Given the description of an element on the screen output the (x, y) to click on. 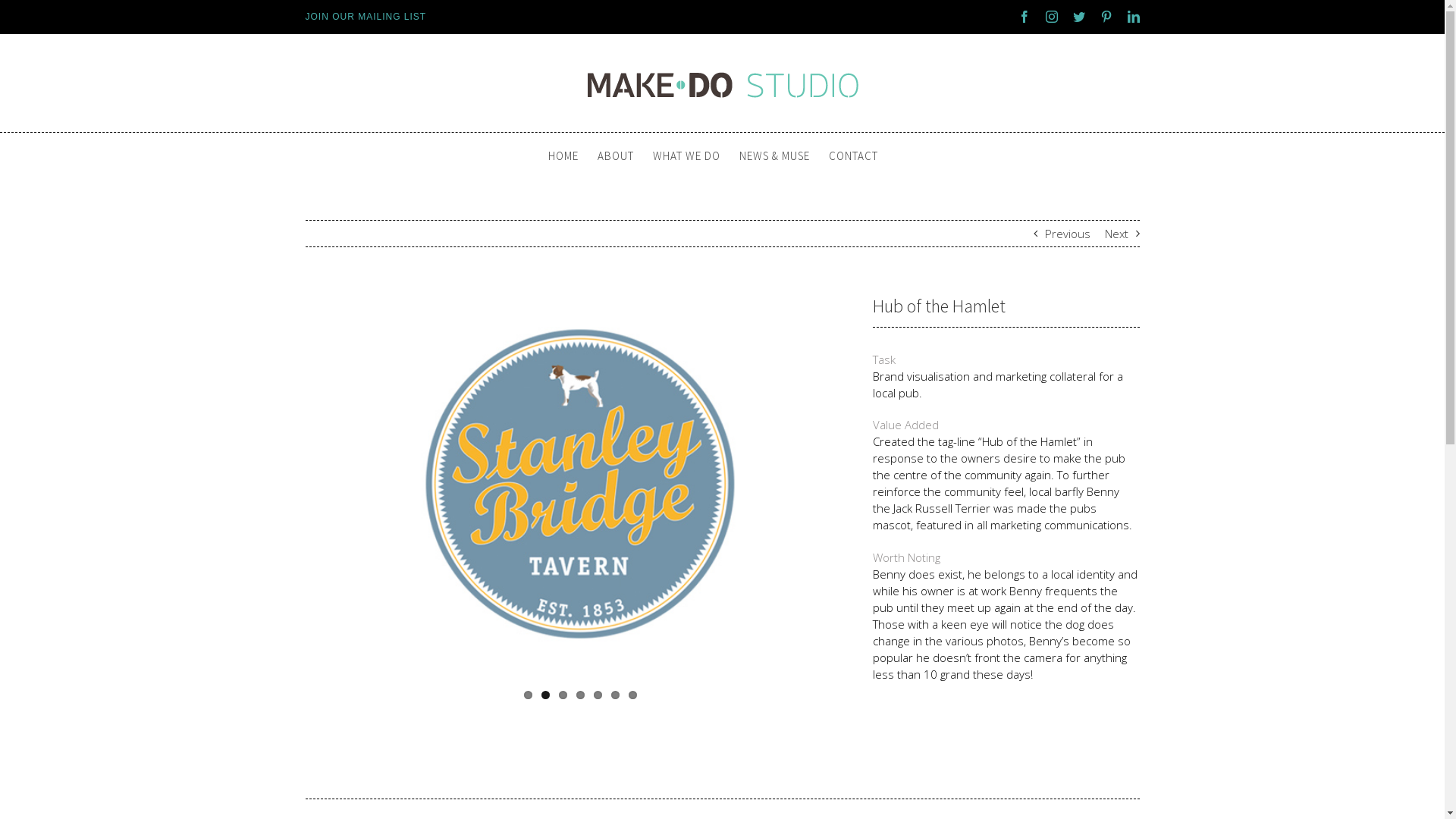
JOIN OUR MAILING LIST Element type: text (365, 16)
ABOUT Element type: text (615, 155)
WHAT WE DO Element type: text (685, 155)
1 Element type: text (528, 694)
View Larger Image Element type: text (579, 499)
NEWS & MUSE Element type: text (773, 155)
CONTACT Element type: text (852, 155)
Pinterest Element type: text (1105, 16)
Twitter Element type: text (1078, 16)
HOME Element type: text (562, 155)
Instagram Element type: text (1050, 16)
2 Element type: text (545, 694)
Facebook Element type: text (1023, 16)
5 Element type: text (597, 694)
6 Element type: text (615, 694)
LinkedIn Element type: text (1132, 16)
Previous Element type: text (1067, 233)
Next Element type: text (1115, 233)
4 Element type: text (580, 694)
3 Element type: text (562, 694)
7 Element type: text (632, 694)
